Given the description of an element on the screen output the (x, y) to click on. 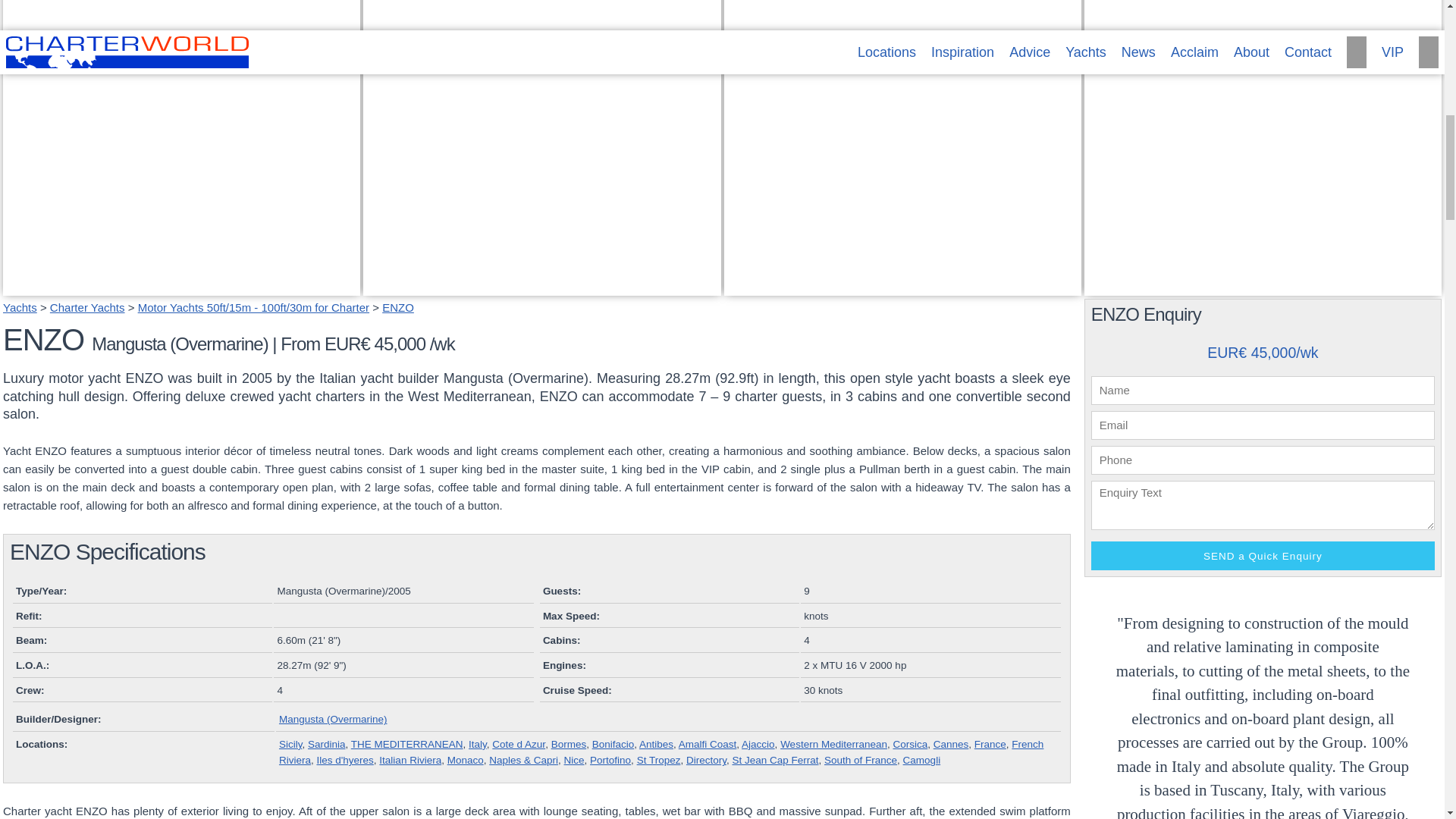
SEND a Quick Enquiry (1262, 555)
Western Mediterranean (833, 744)
Sicily (541, 286)
Cannes (951, 744)
Corsica (909, 744)
THE MEDITERRANEAN (406, 744)
Bormes (568, 744)
Bonifacio (180, 286)
Antibes (613, 744)
